Given the description of an element on the screen output the (x, y) to click on. 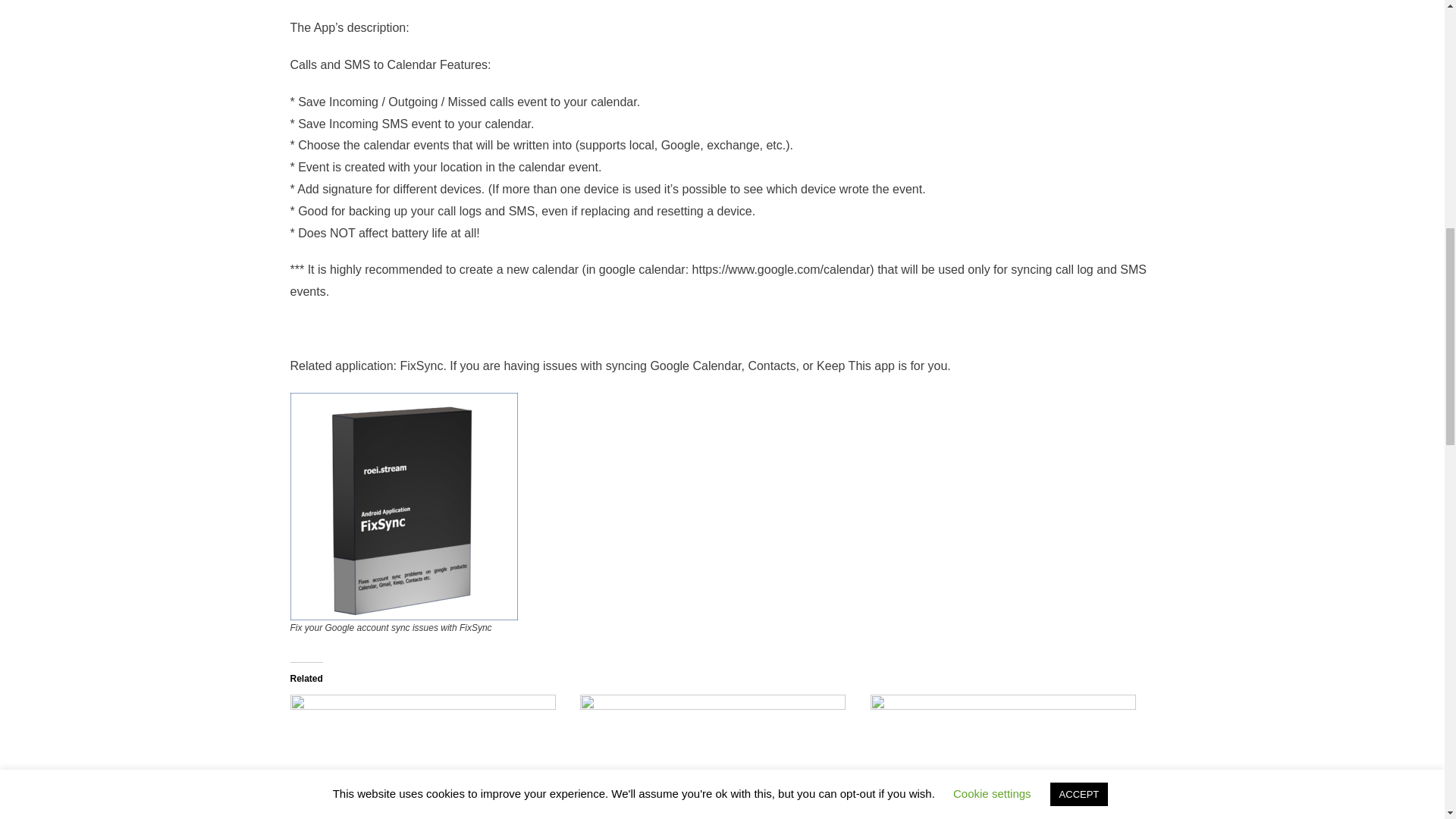
PowerPoint Software Box 3D template (717, 756)
